Given the description of an element on the screen output the (x, y) to click on. 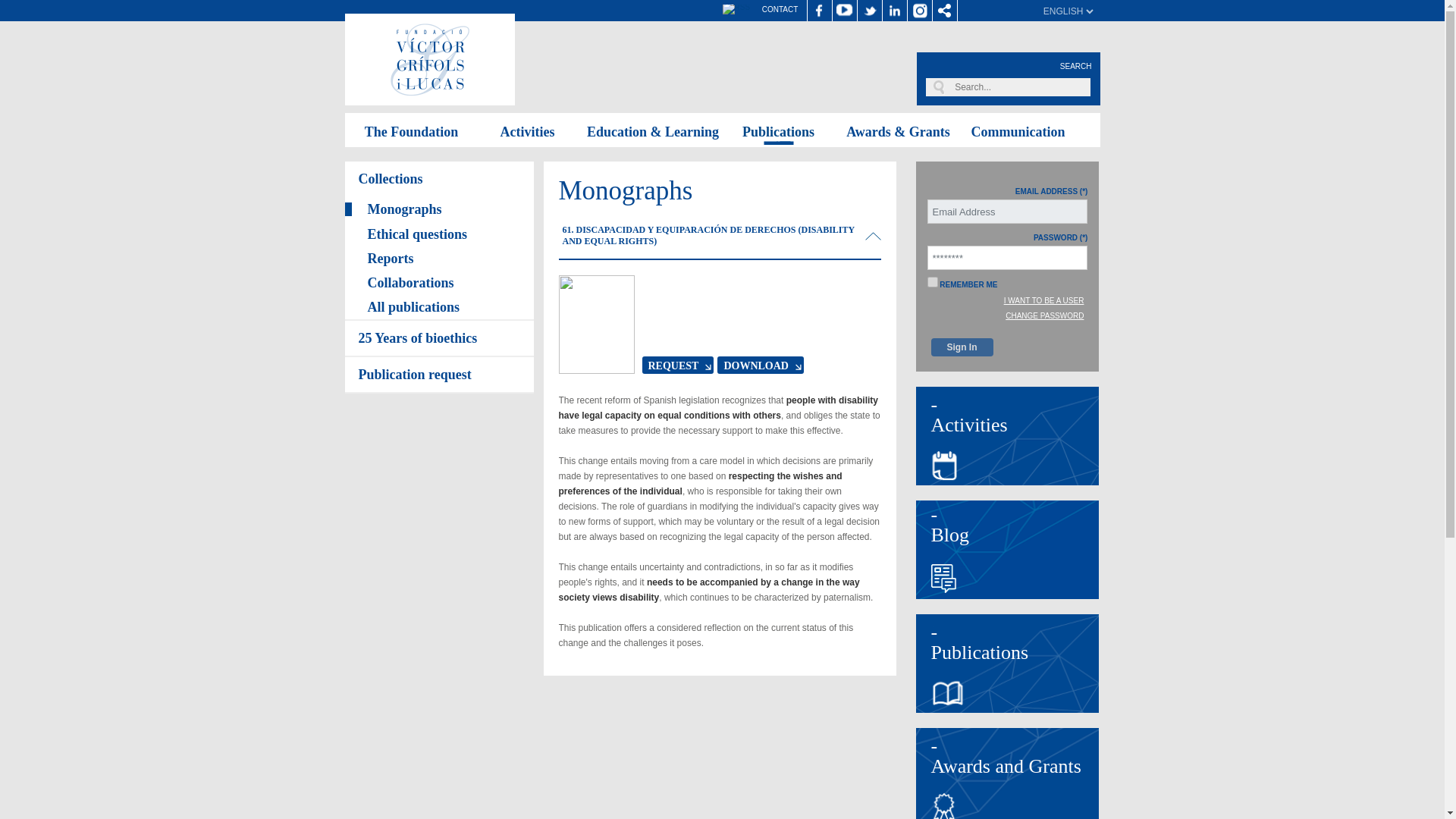
on (931, 281)
Follow us on Twitter (868, 10)
CONTACT (780, 9)
Follow our Youtube channel (844, 10)
Follow us on Instagram (919, 10)
Follow us on LinkedIn (894, 10)
Share this page (944, 10)
The Foundation (411, 129)
Search (1010, 86)
Activities (526, 129)
Follow us on Facebook (818, 10)
